Given the description of an element on the screen output the (x, y) to click on. 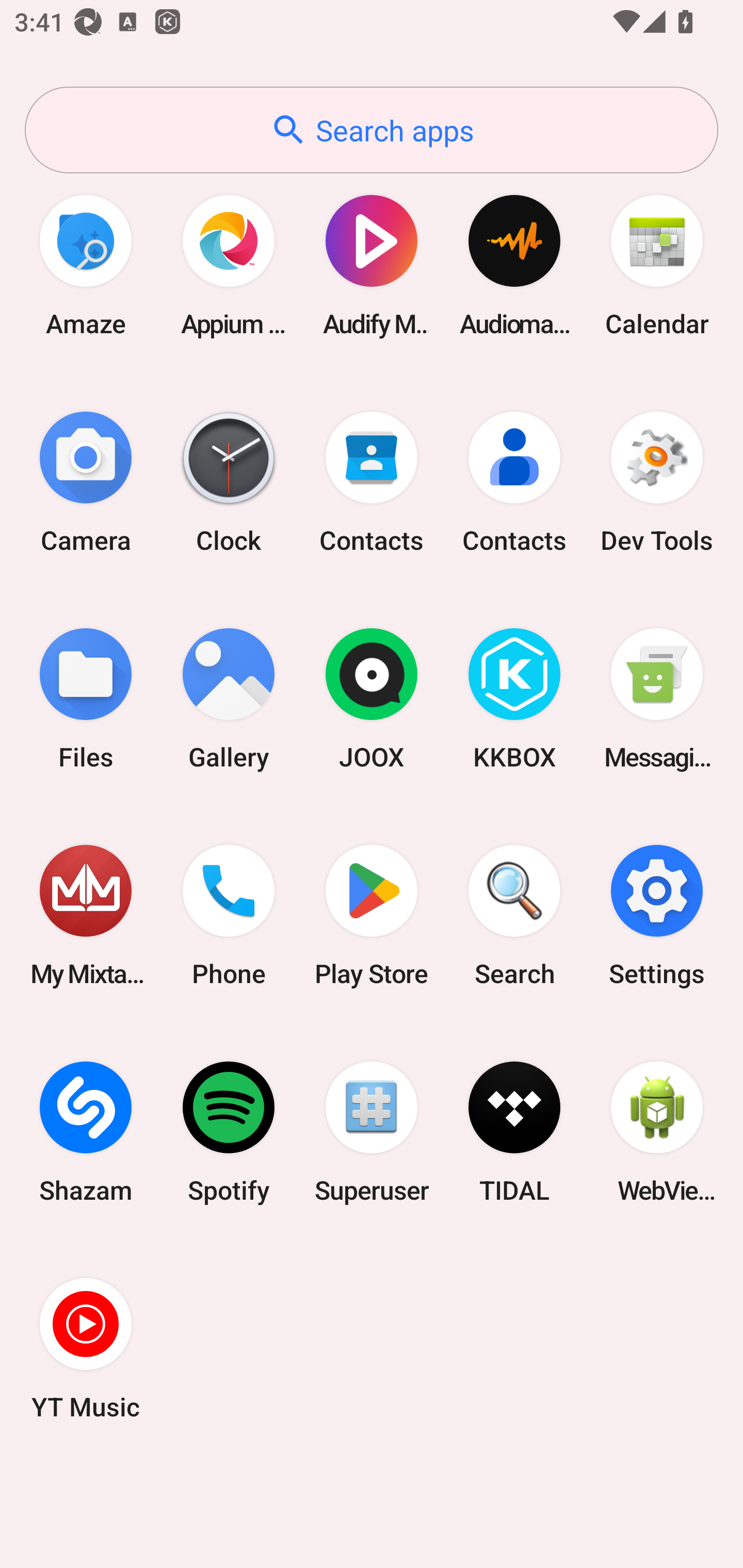
  Search apps (371, 130)
Amaze (85, 264)
Appium Settings (228, 264)
Audify Music Player (371, 264)
Audio­mack (514, 264)
Calendar (656, 264)
Camera (85, 482)
Clock (228, 482)
Contacts (371, 482)
Contacts (514, 482)
Dev Tools (656, 482)
Files (85, 699)
Gallery (228, 699)
JOOX (371, 699)
KKBOX (514, 699)
Messaging (656, 699)
My Mixtapez (85, 915)
Phone (228, 915)
Play Store (371, 915)
Search (514, 915)
Settings (656, 915)
Shazam (85, 1131)
Spotify (228, 1131)
Superuser (371, 1131)
TIDAL (514, 1131)
WebView Browser Tester (656, 1131)
YT Music (85, 1348)
